Given the description of an element on the screen output the (x, y) to click on. 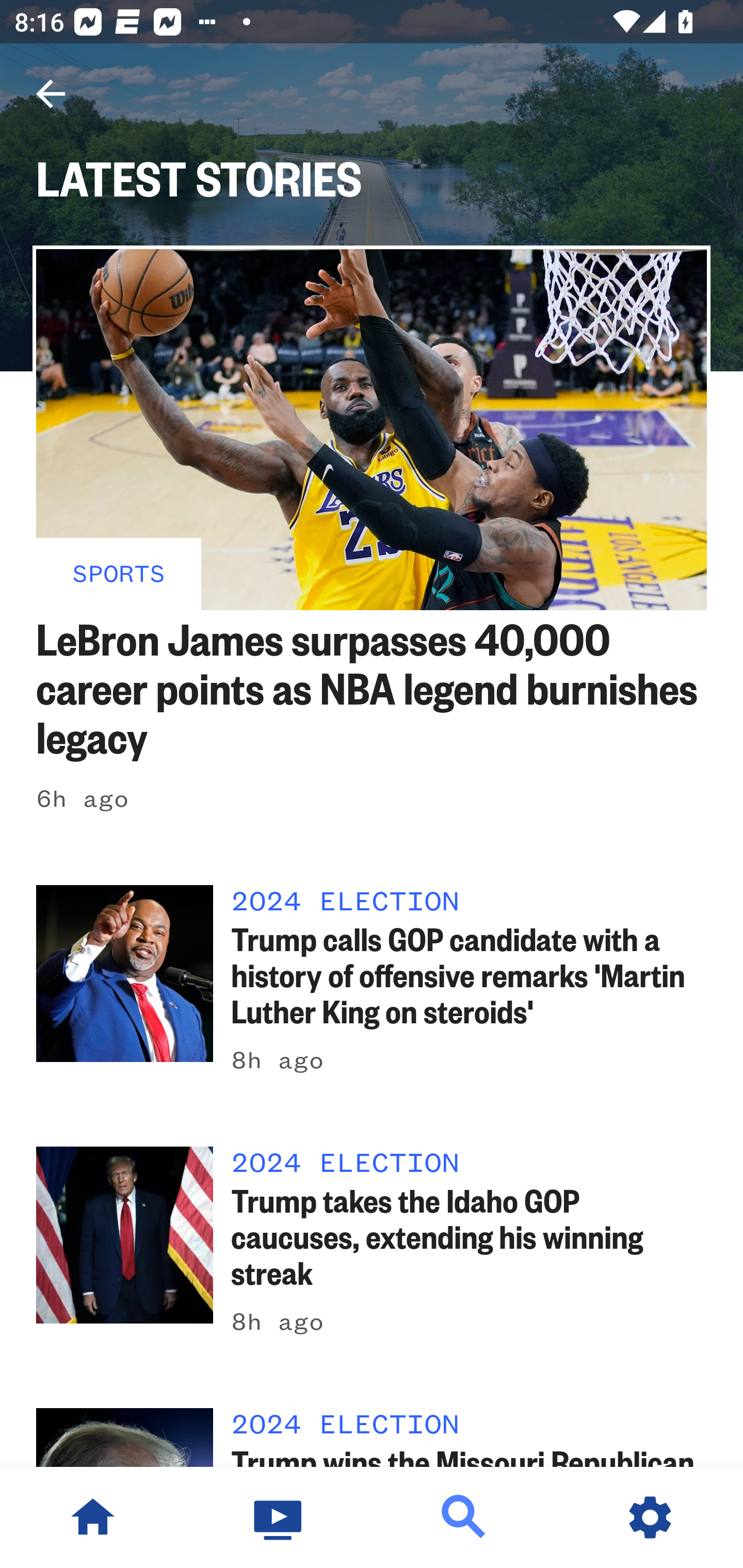
Navigate up (50, 93)
NBC News Home (92, 1517)
Watch (278, 1517)
Settings (650, 1517)
